Given the description of an element on the screen output the (x, y) to click on. 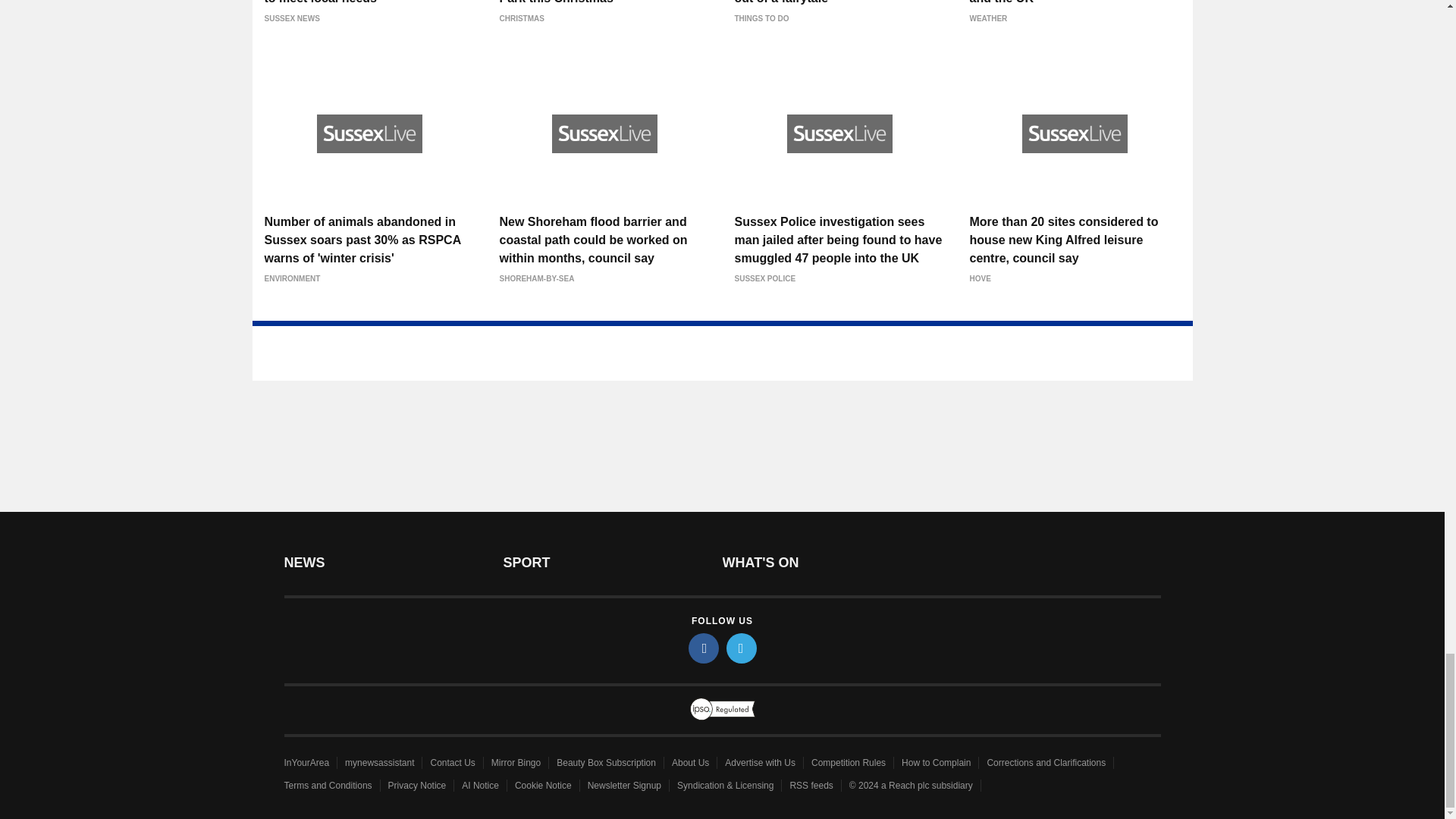
twitter (741, 648)
facebook (703, 648)
